Given the description of an element on the screen output the (x, y) to click on. 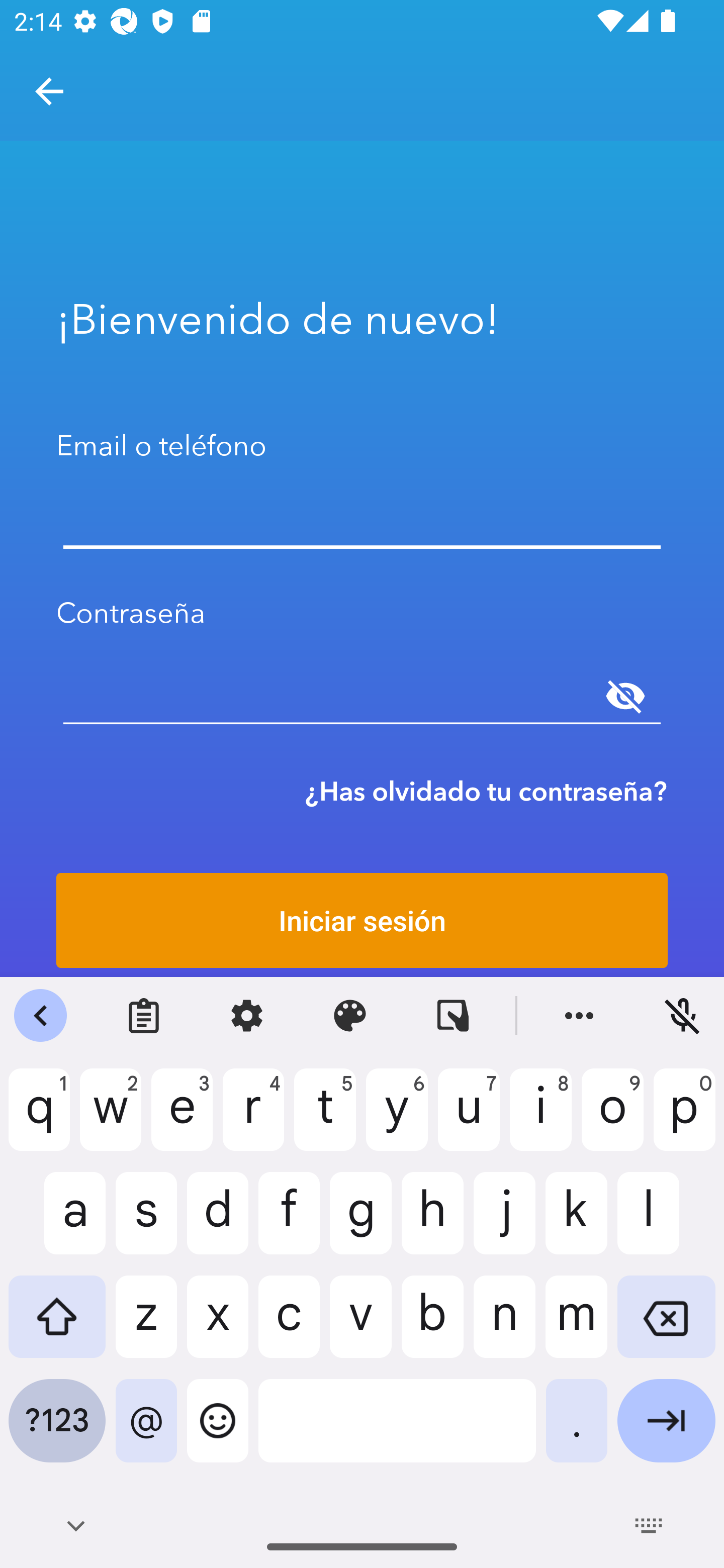
Navegar hacia arriba (49, 91)
Mostrar contraseña (625, 695)
¿Has olvidado tu contraseña? (486, 790)
Iniciar sesión (361, 920)
